Given the description of an element on the screen output the (x, y) to click on. 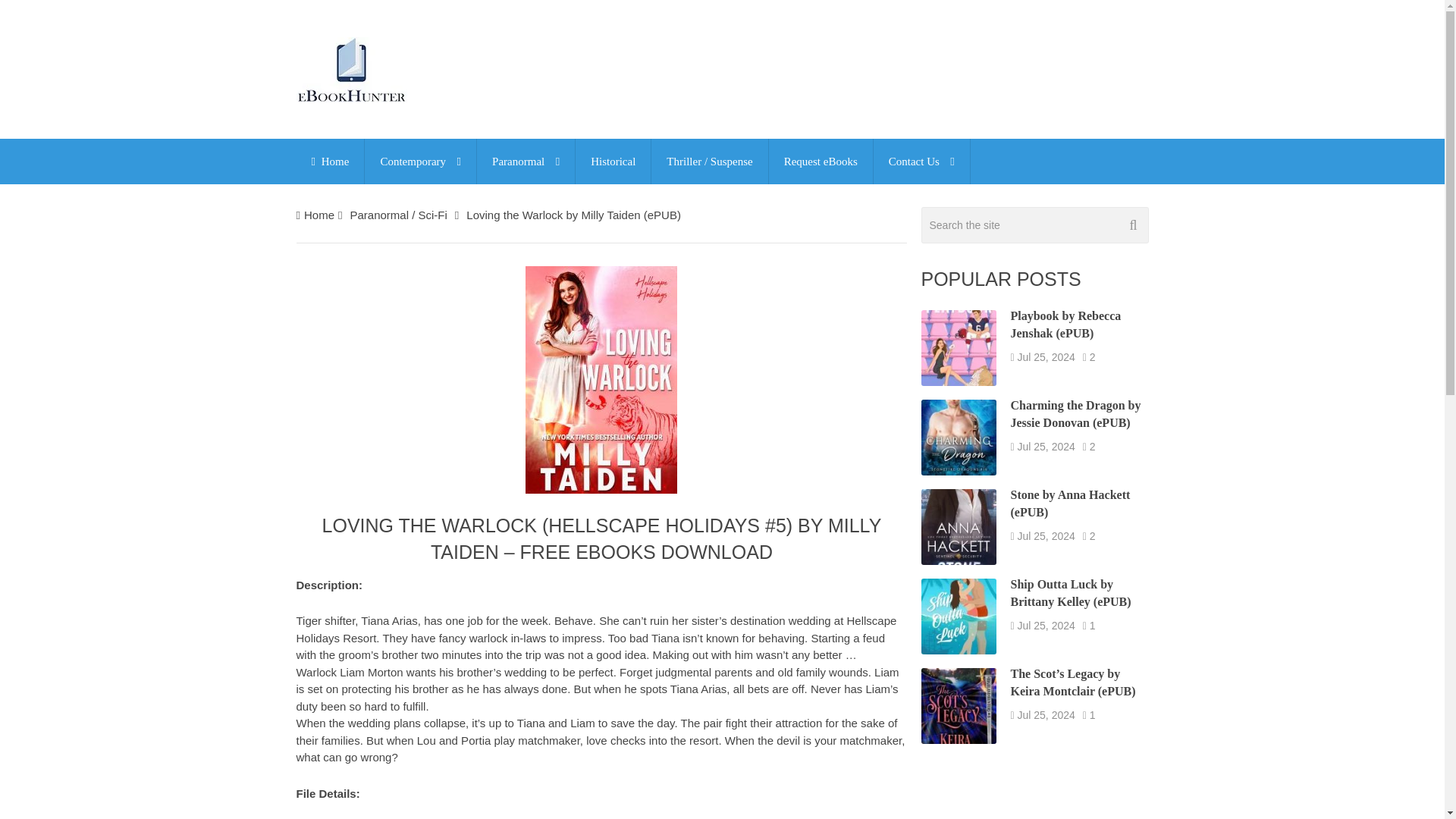
Request eBooks (820, 161)
Contact Us (921, 161)
Home (319, 214)
Home (329, 161)
Contemporary (420, 161)
Historical (612, 161)
Paranormal (526, 161)
